Given the description of an element on the screen output the (x, y) to click on. 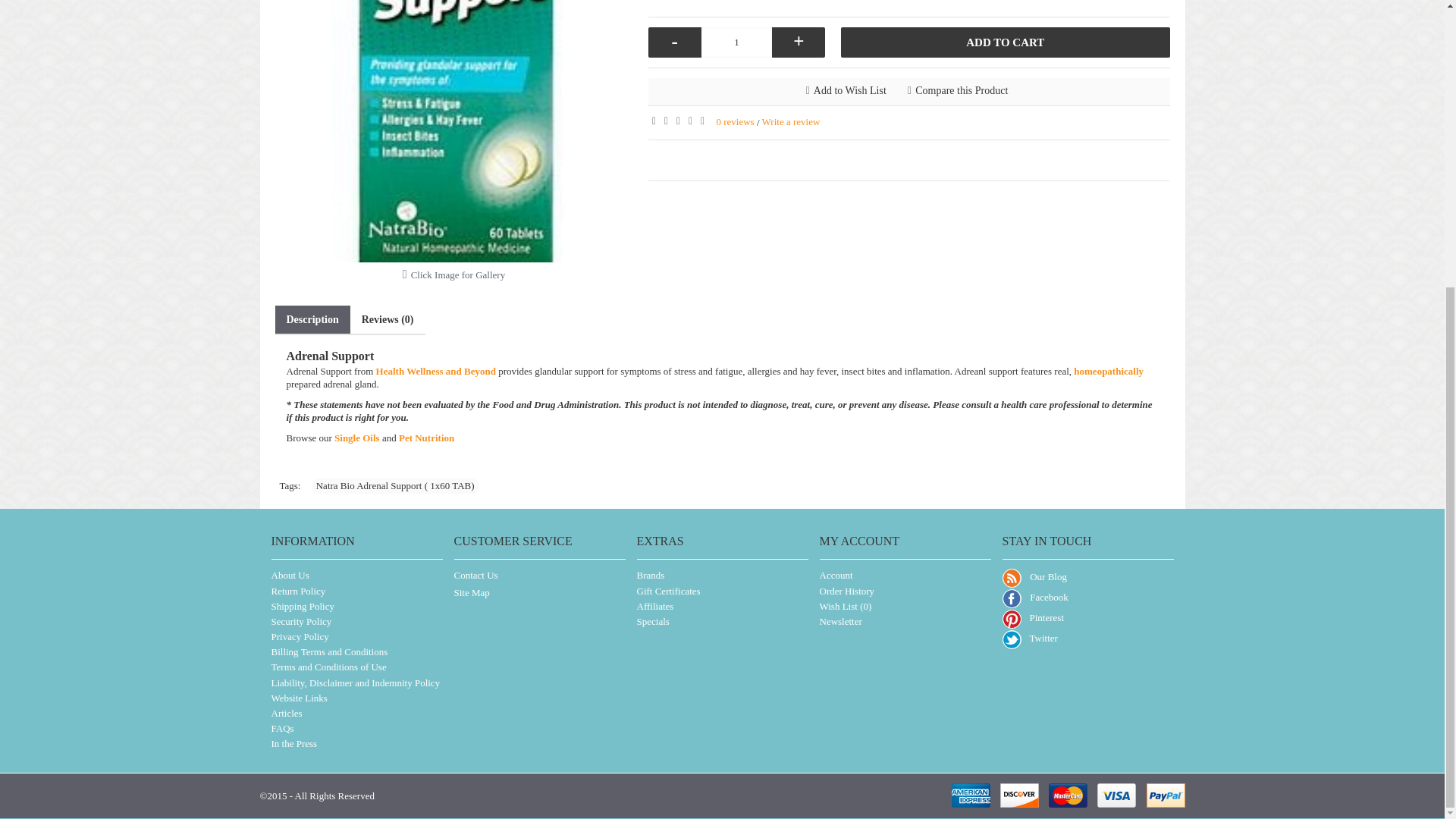
1 (737, 42)
